Given the description of an element on the screen output the (x, y) to click on. 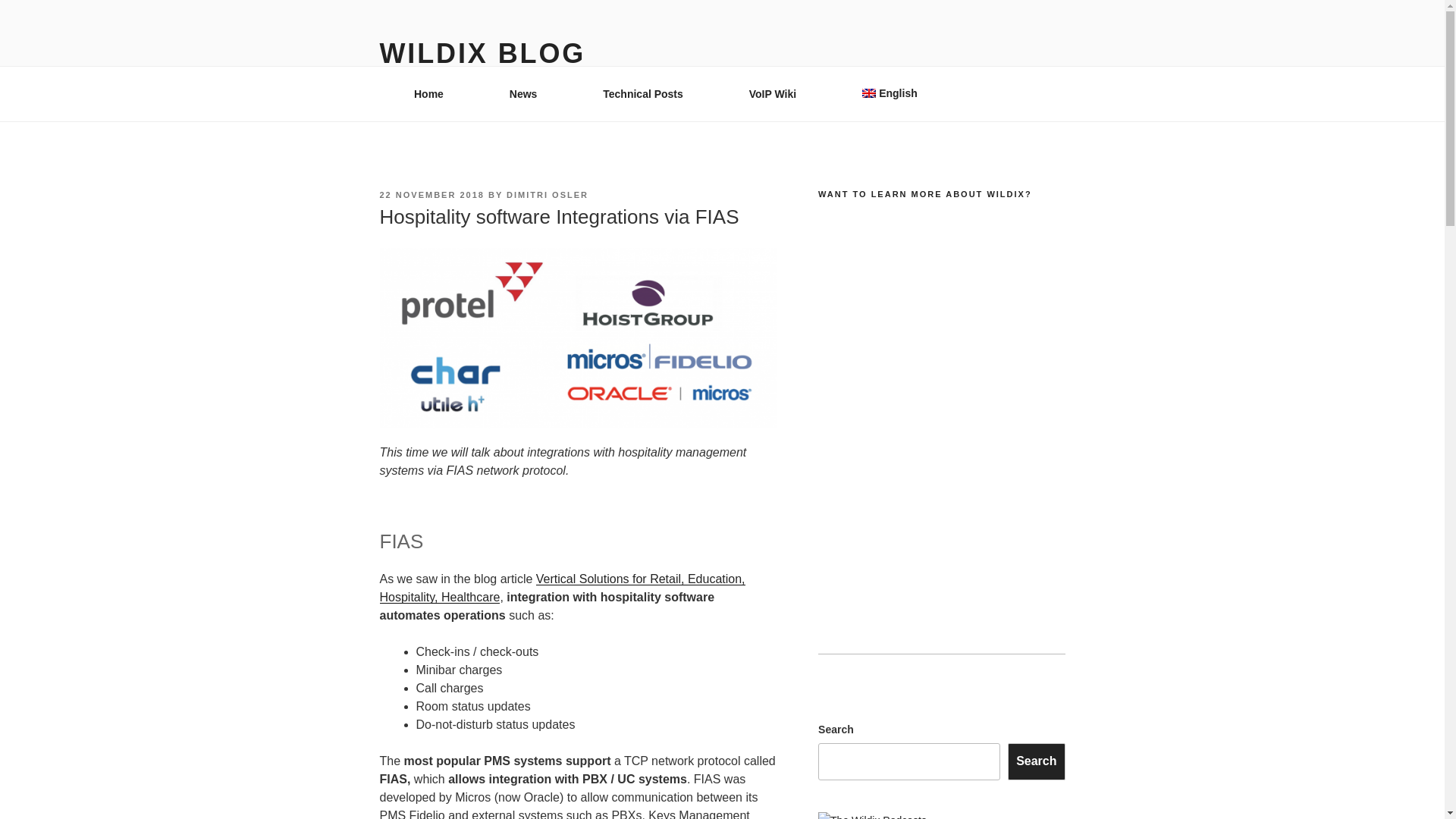
WILDIX BLOG (481, 52)
Home (428, 94)
22 NOVEMBER 2018 (430, 194)
English (889, 92)
Search (1035, 760)
DIMITRI OSLER (547, 194)
News (523, 94)
Technical Posts (643, 94)
English (889, 92)
